Given the description of an element on the screen output the (x, y) to click on. 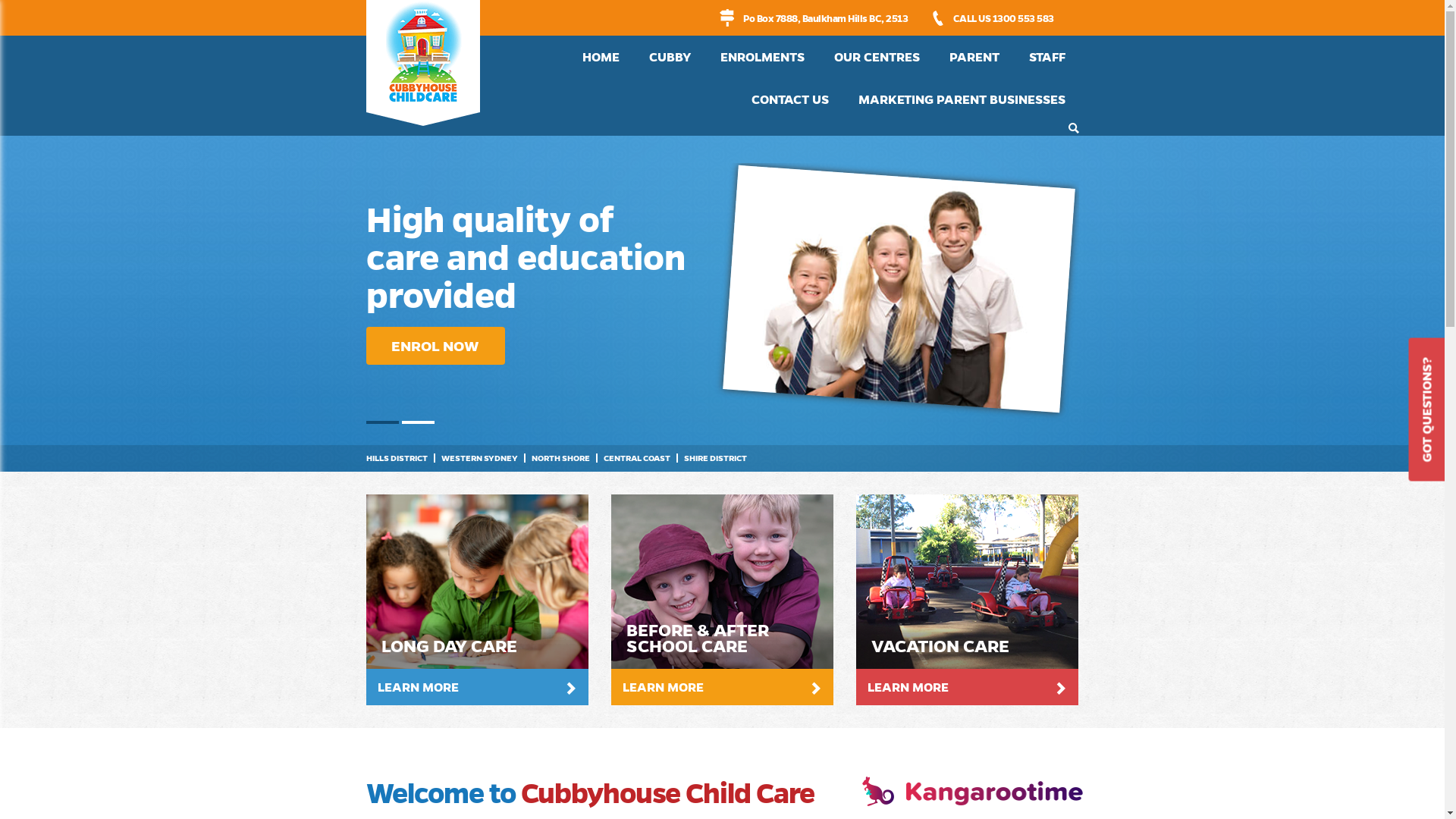
ENROL NOW Element type: text (434, 345)
ENROLMENTS Element type: text (762, 56)
LONG DAY CARE
LEARN MORE Element type: text (476, 599)
VACATION CARE
LEARN MORE Element type: text (967, 599)
OUR CENTRES Element type: text (876, 56)
CUBBY Element type: text (669, 56)
Cubbyhouse Child Care Element type: hover (422, 62)
BEFORE & AFTER SCHOOL CARE
LEARN MORE Element type: text (722, 599)
CONTACT US Element type: text (789, 99)
PARENT Element type: text (974, 56)
STAFF Element type: text (1046, 56)
MARKETING PARENT BUSINESSES Element type: text (961, 99)
HOME Element type: text (600, 56)
1300 553 583 Element type: text (1022, 17)
